Given the description of an element on the screen output the (x, y) to click on. 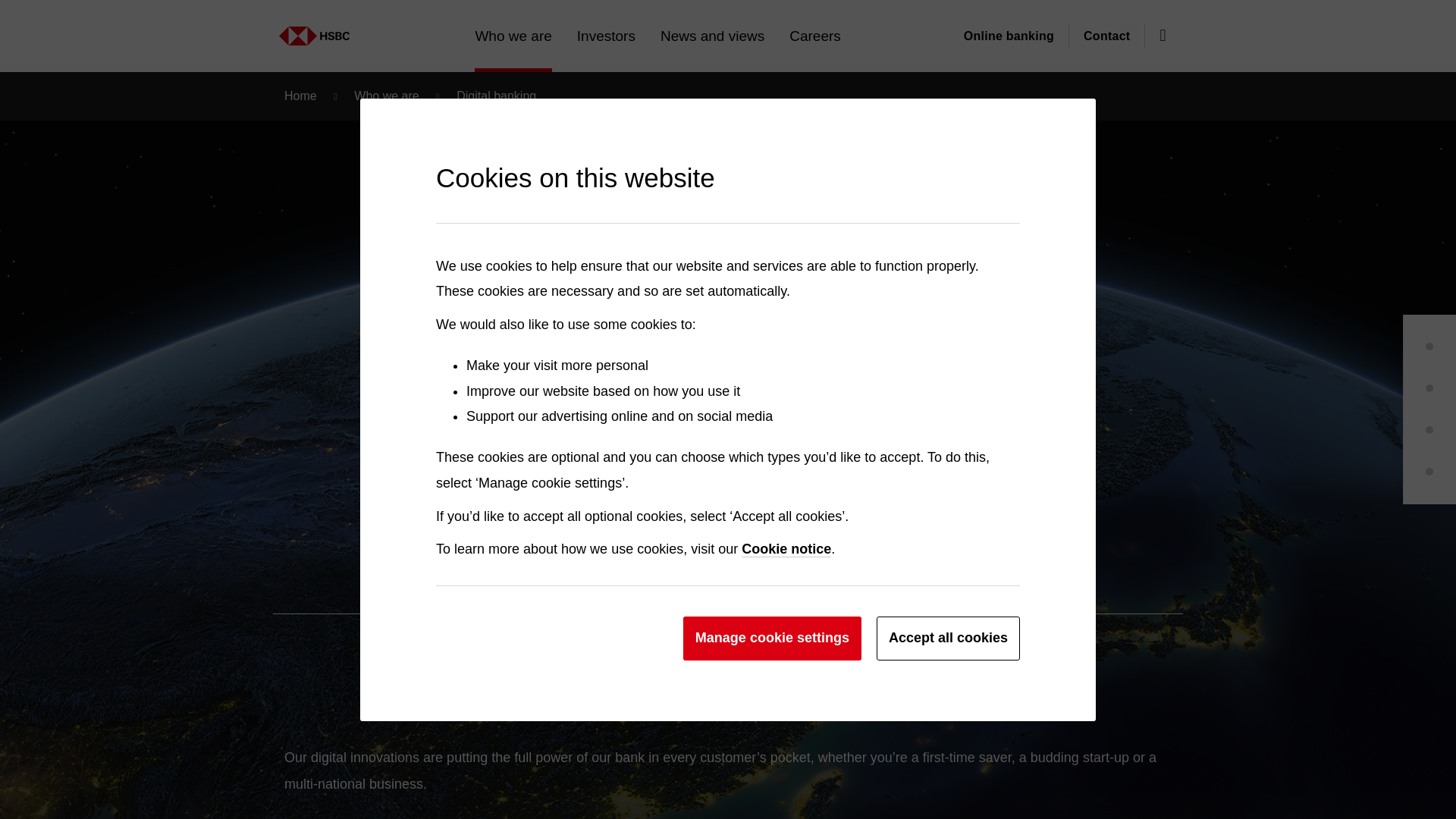
Who we are (280, 28)
Home (364, 28)
